Given the description of an element on the screen output the (x, y) to click on. 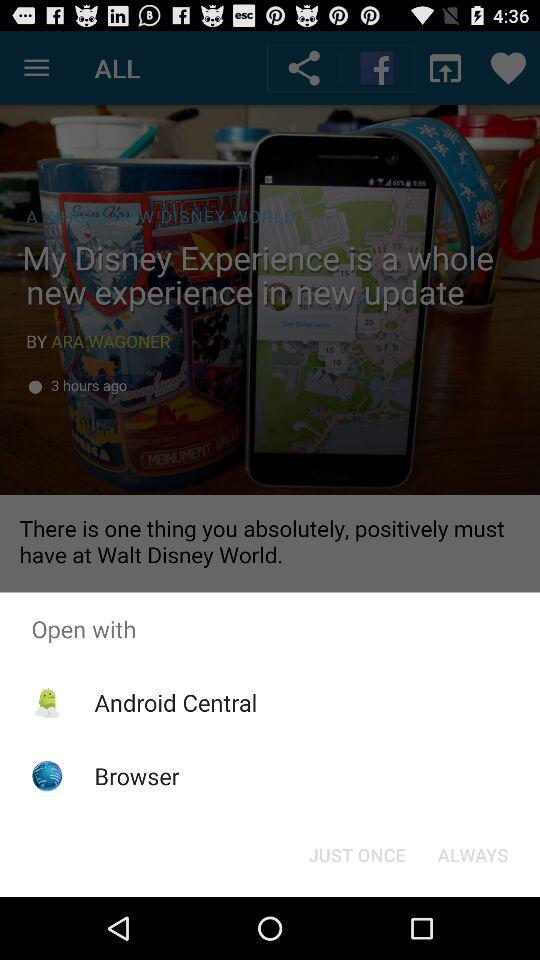
choose just once at the bottom (356, 854)
